Given the description of an element on the screen output the (x, y) to click on. 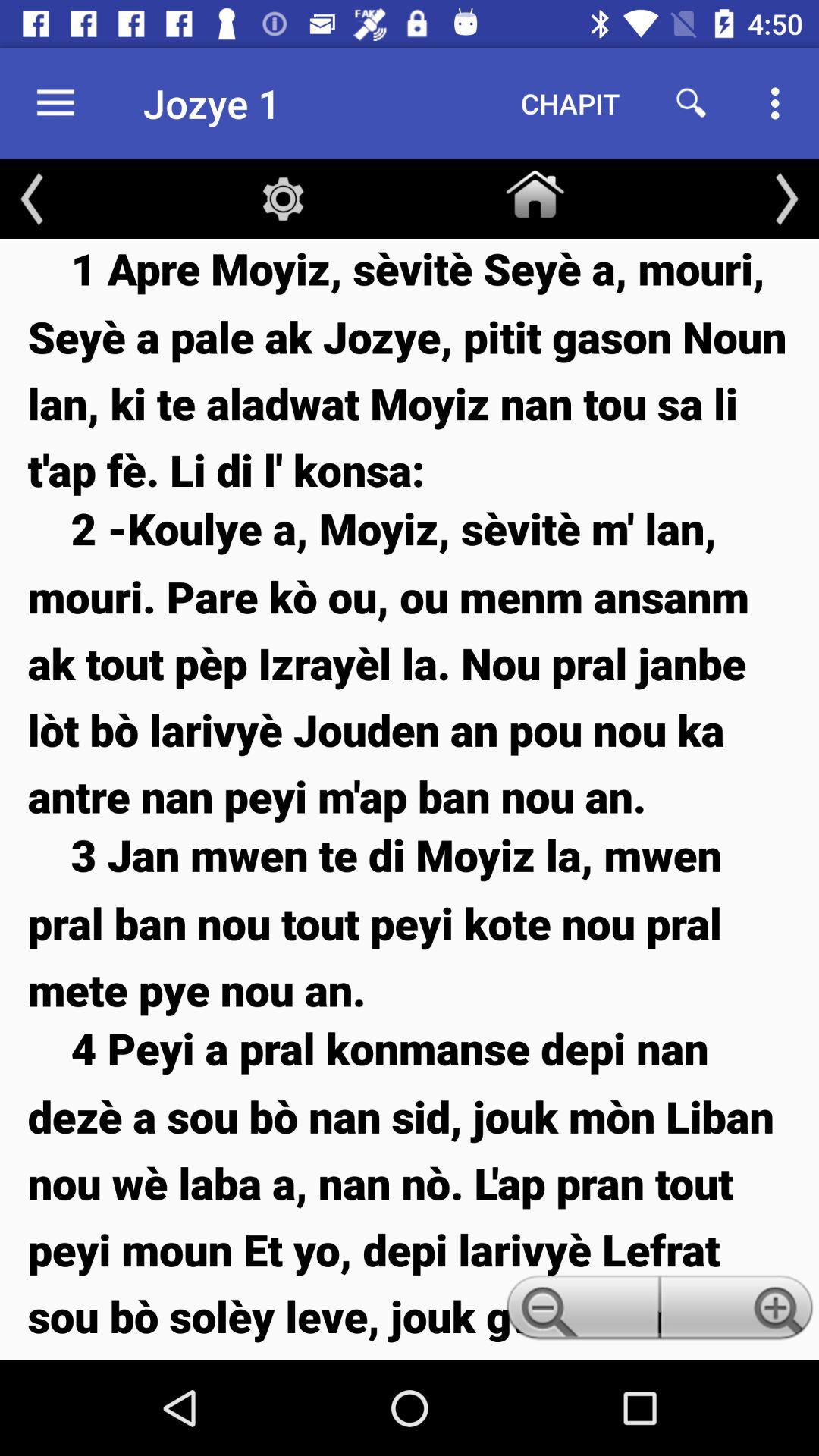
choose icon above 4 peyi a icon (409, 921)
